Given the description of an element on the screen output the (x, y) to click on. 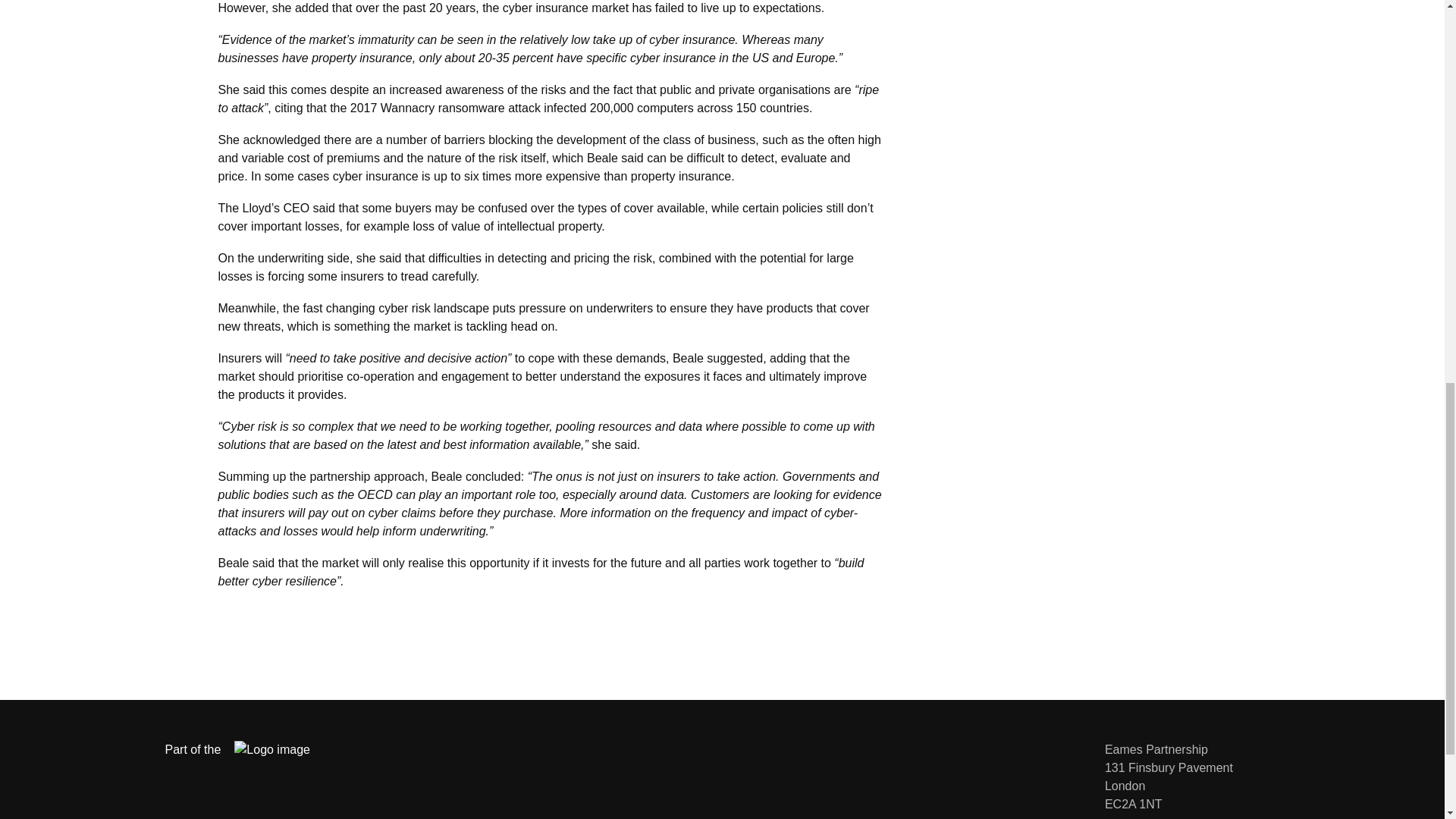
Part of the (249, 750)
